Given the description of an element on the screen output the (x, y) to click on. 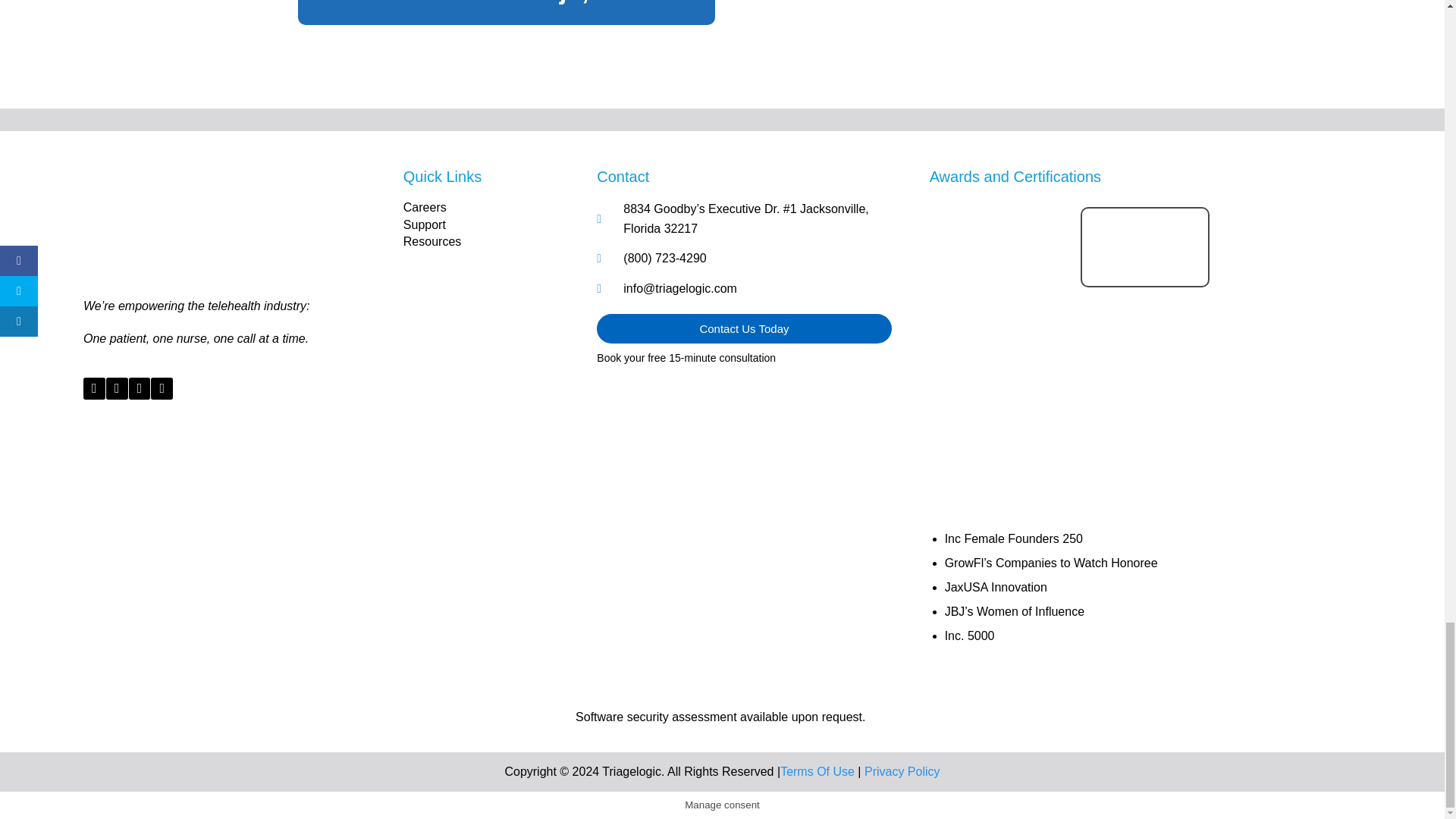
wbenc-logo-2 (1144, 340)
MBE (1001, 264)
URAC Seal 2023 (1001, 400)
